Given the description of an element on the screen output the (x, y) to click on. 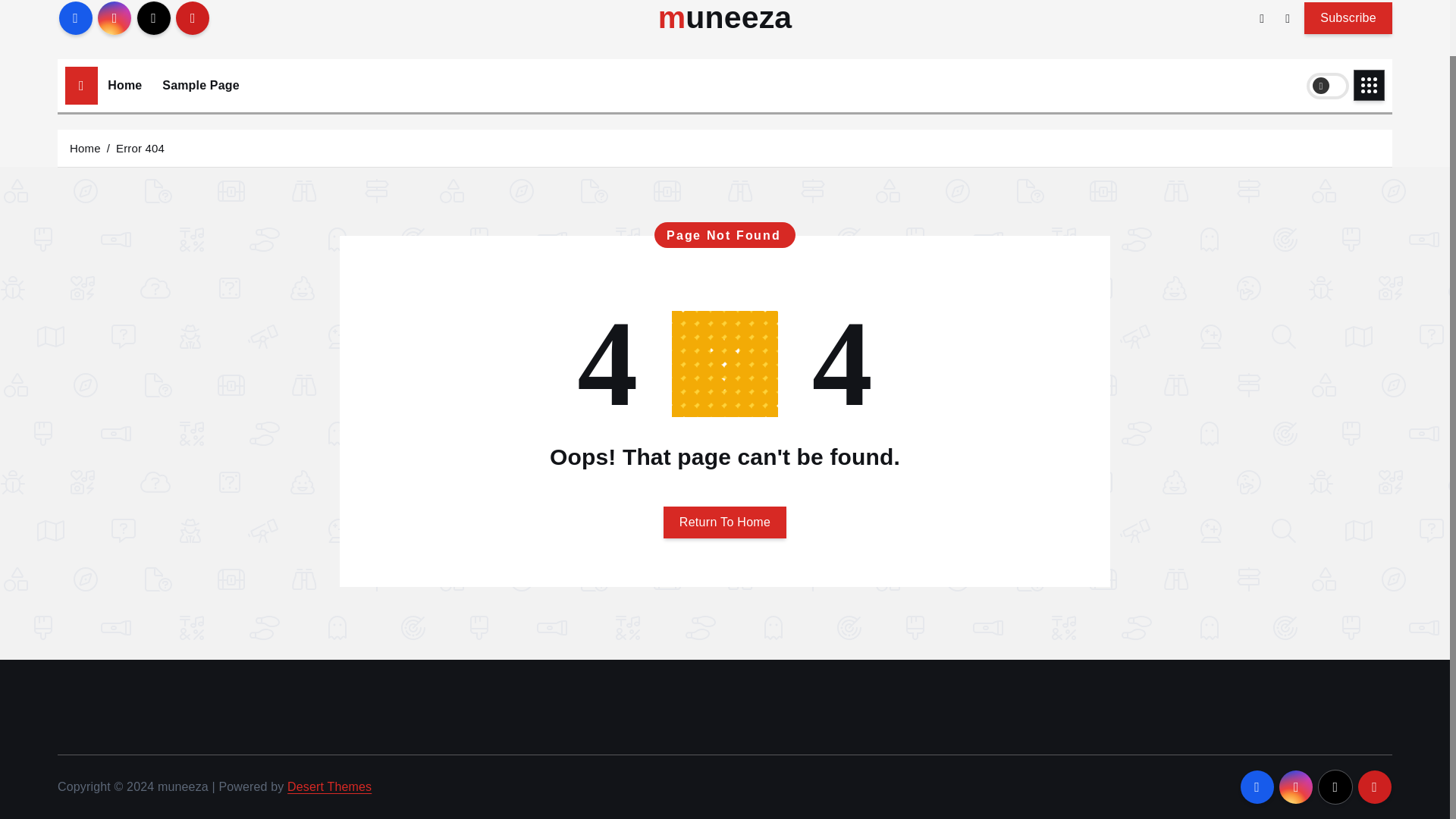
Return To Home (724, 522)
Home (124, 85)
Home (124, 85)
Error 404 (140, 146)
Desert Themes (328, 786)
muneeza (725, 17)
Home (84, 146)
Subscribe (1347, 17)
Sample Page (200, 85)
